Given the description of an element on the screen output the (x, y) to click on. 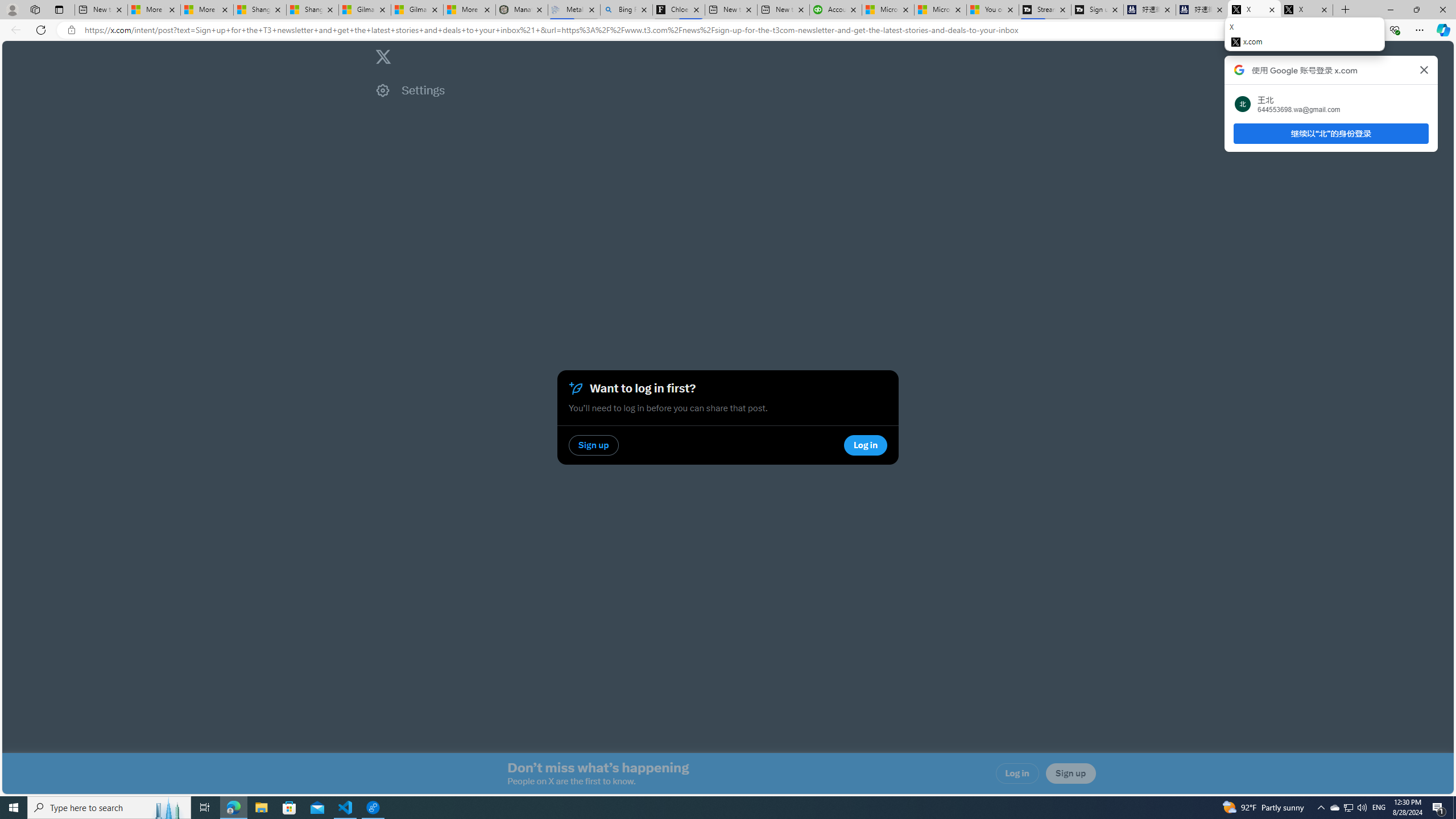
App available. Install X (1245, 29)
Manatee Mortality Statistics | FWC (521, 9)
Class: Bz112c Bz112c-r9oPif (1423, 69)
